Given the description of an element on the screen output the (x, y) to click on. 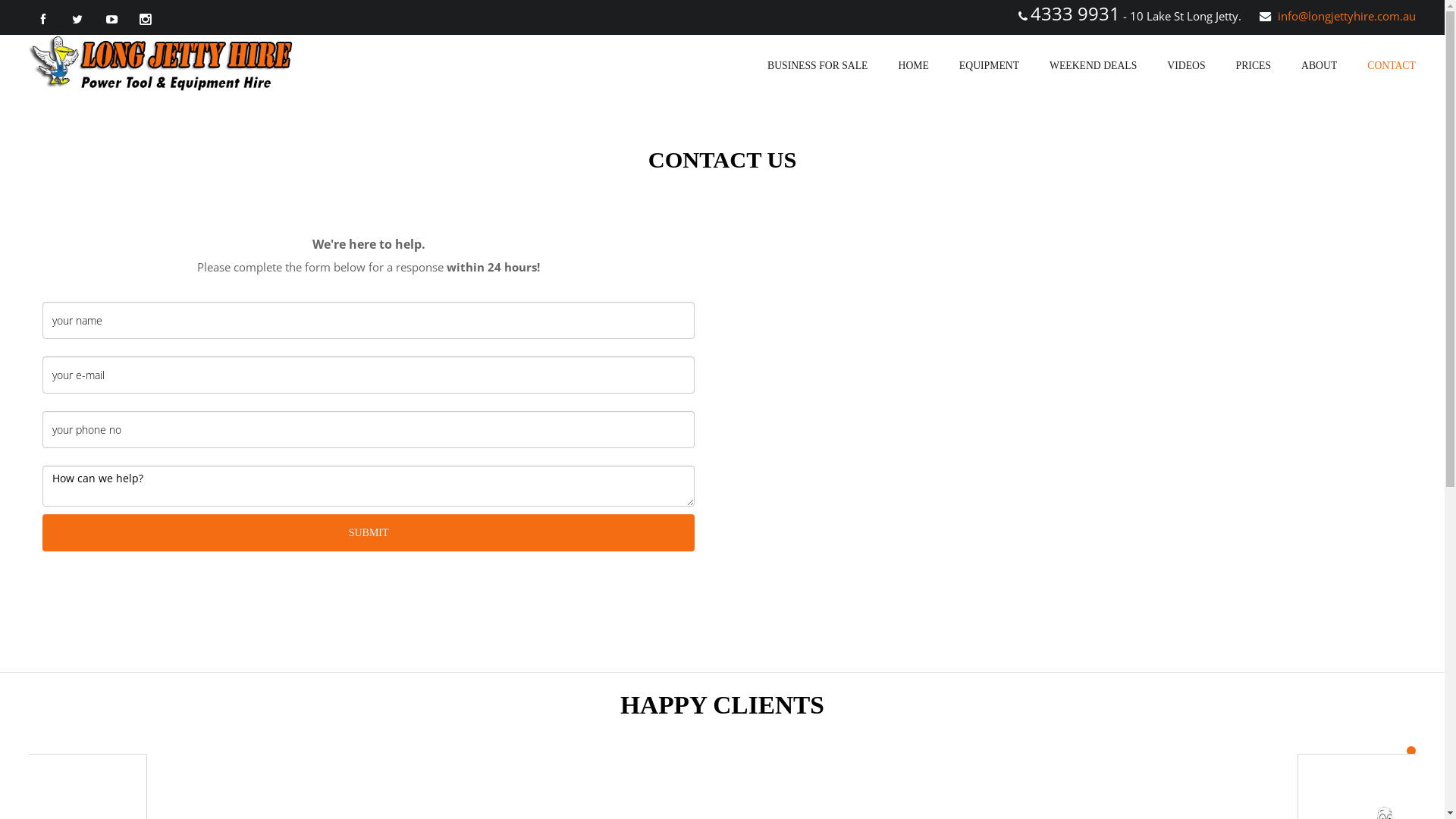
4333 9931 Element type: text (1075, 12)
EQUIPMENT Element type: text (989, 65)
VIDEOS Element type: text (1185, 65)
BUSINESS FOR SALE Element type: text (817, 65)
CONTACT Element type: text (1391, 65)
HOME Element type: text (912, 65)
Submit Element type: text (368, 532)
EQUIPMENT Element type: text (989, 65)
WEEKEND DEALS Element type: text (1092, 65)
ABOUT Element type: text (1318, 65)
PRICES Element type: text (1253, 65)
HOME Element type: text (912, 65)
PRICES Element type: text (1253, 65)
ABOUT Element type: text (1318, 65)
CONTACT Element type: text (1391, 65)
VIDEOS Element type: text (1185, 65)
WEEKEND DEALS Element type: text (1092, 65)
BUSINESS FOR SALE Element type: text (817, 65)
info@longjettyhire.com.au Element type: text (1346, 15)
